Given the description of an element on the screen output the (x, y) to click on. 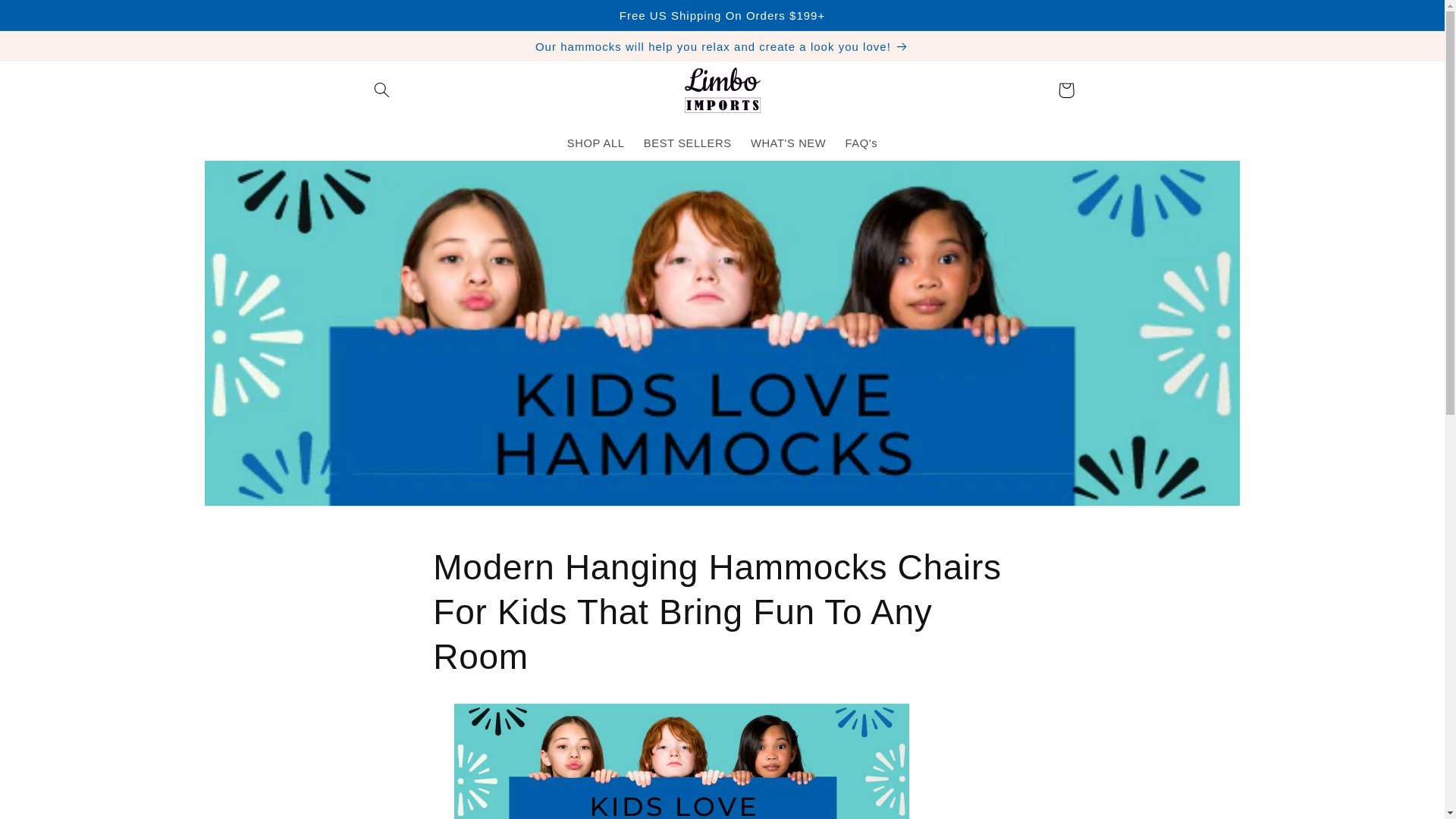
FAQ's (860, 143)
Cart (1065, 89)
BEST SELLERS (687, 143)
Skip to content (48, 18)
Our hammocks will help you relax and create a look you love! (722, 46)
SHOP ALL (595, 143)
WHAT'S NEW (788, 143)
